Given the description of an element on the screen output the (x, y) to click on. 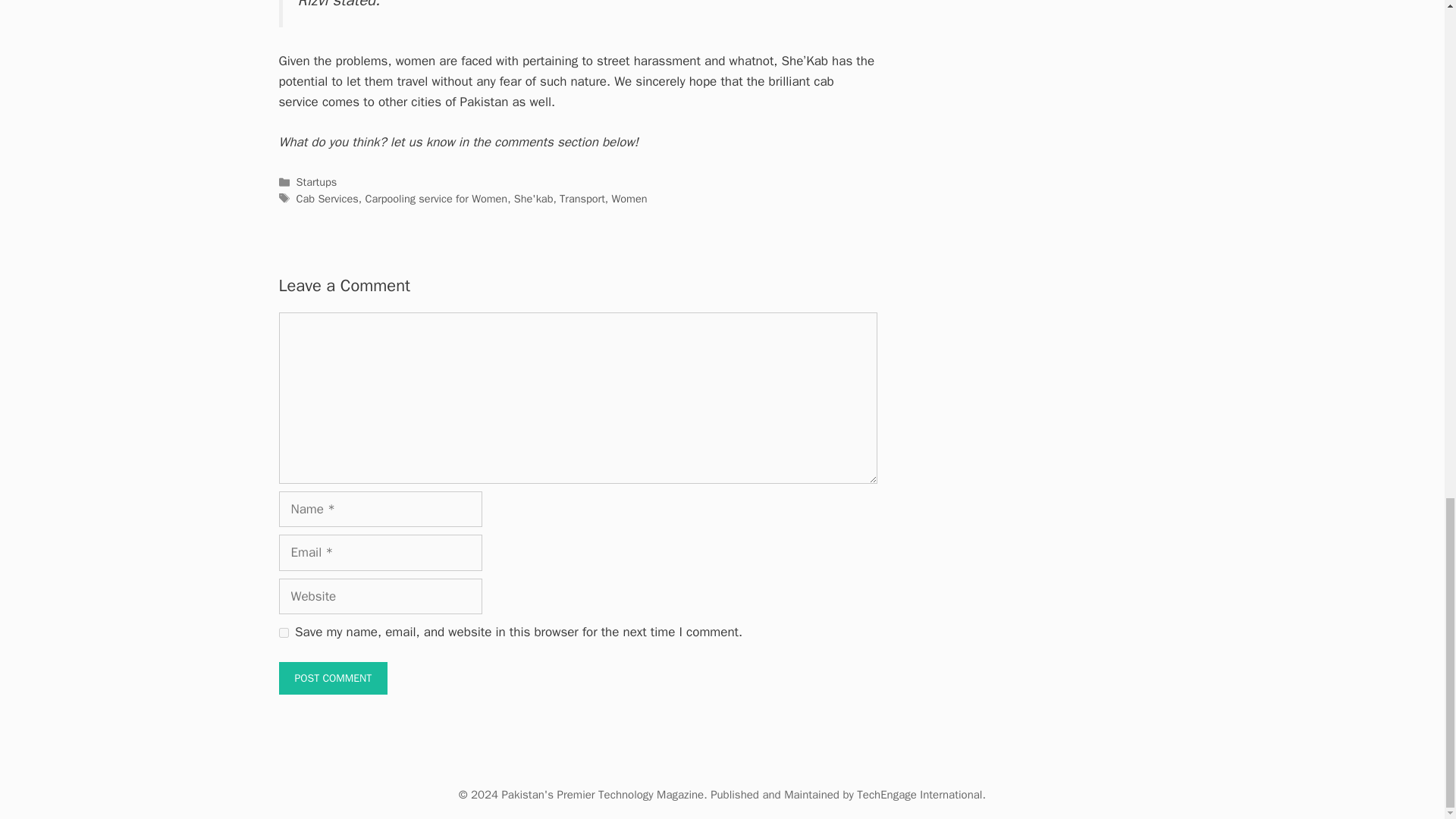
yes (283, 633)
Women (628, 198)
Post Comment (333, 677)
Carpooling service for Women (435, 198)
She'kab (533, 198)
Startups (317, 182)
Cab Services (327, 198)
Transport (582, 198)
Post Comment (333, 677)
